Given the description of an element on the screen output the (x, y) to click on. 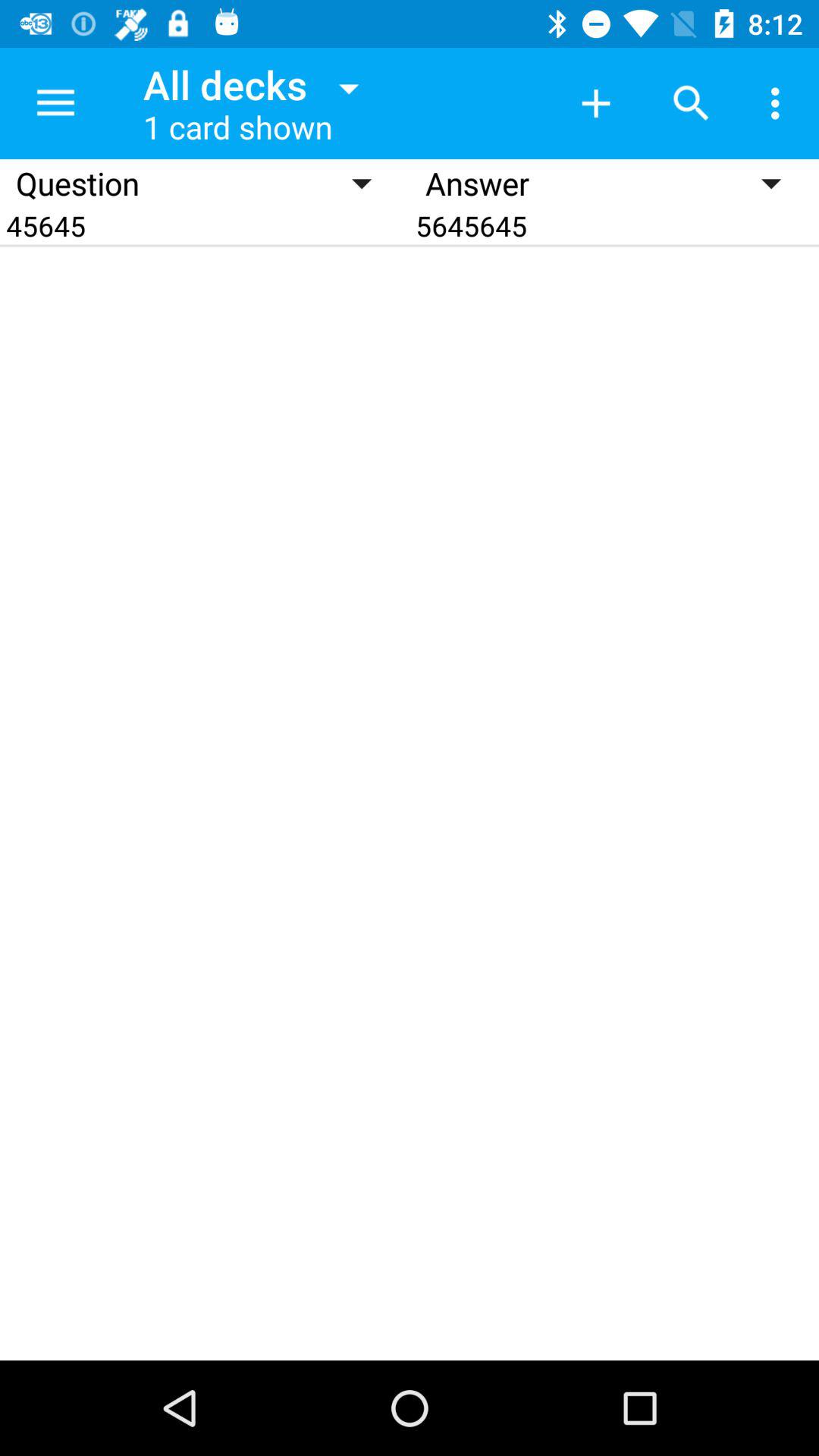
open icon next to answer icon (204, 225)
